Given the description of an element on the screen output the (x, y) to click on. 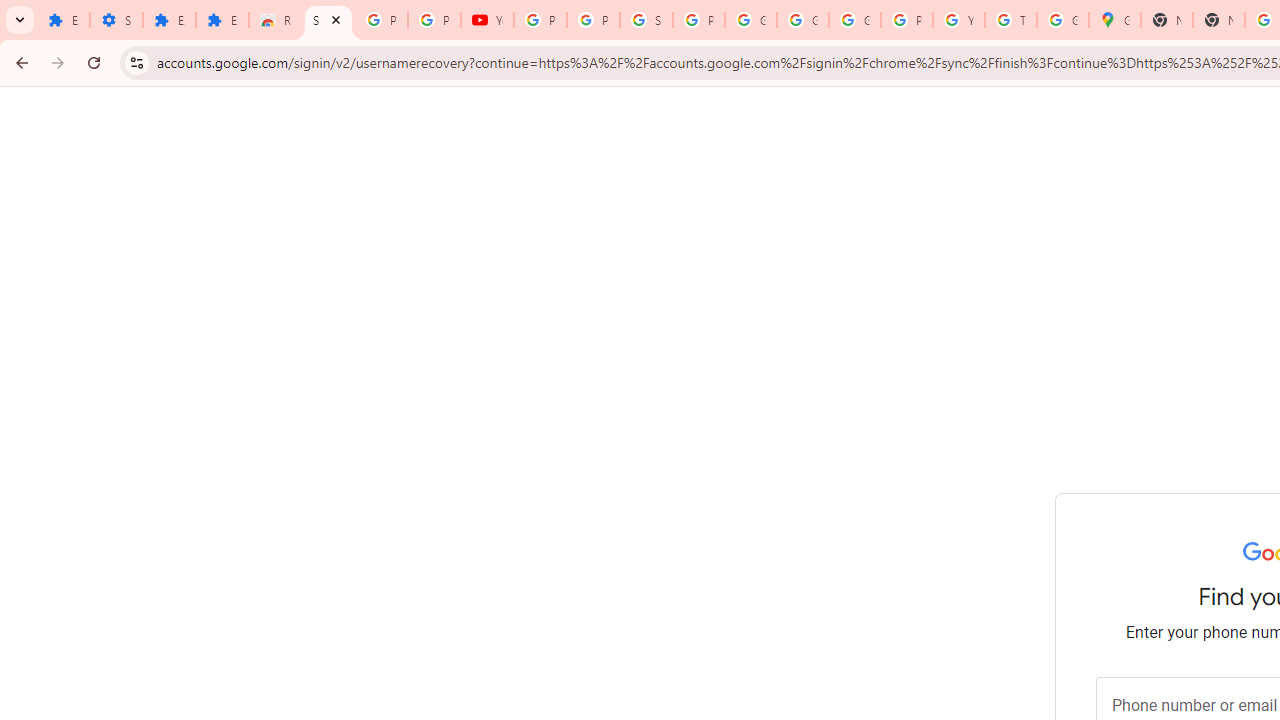
New Tab (1166, 20)
Google Maps (1114, 20)
Settings (116, 20)
Extensions (169, 20)
Sign in - Google Accounts (328, 20)
YouTube (487, 20)
